Given the description of an element on the screen output the (x, y) to click on. 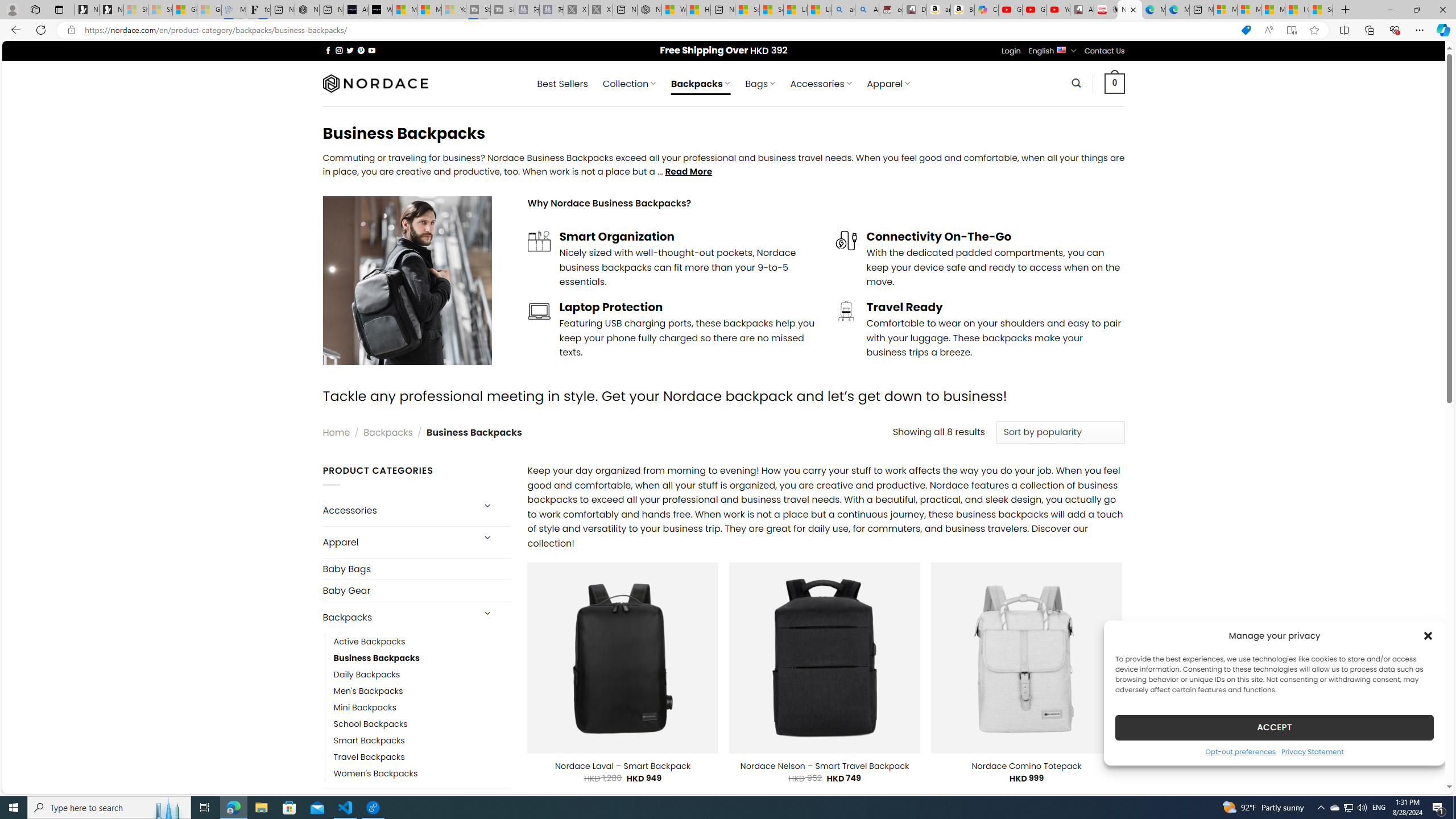
School Backpacks (370, 723)
Class: cmplz-close (1428, 635)
Nordace - My Account (648, 9)
